Given the description of an element on the screen output the (x, y) to click on. 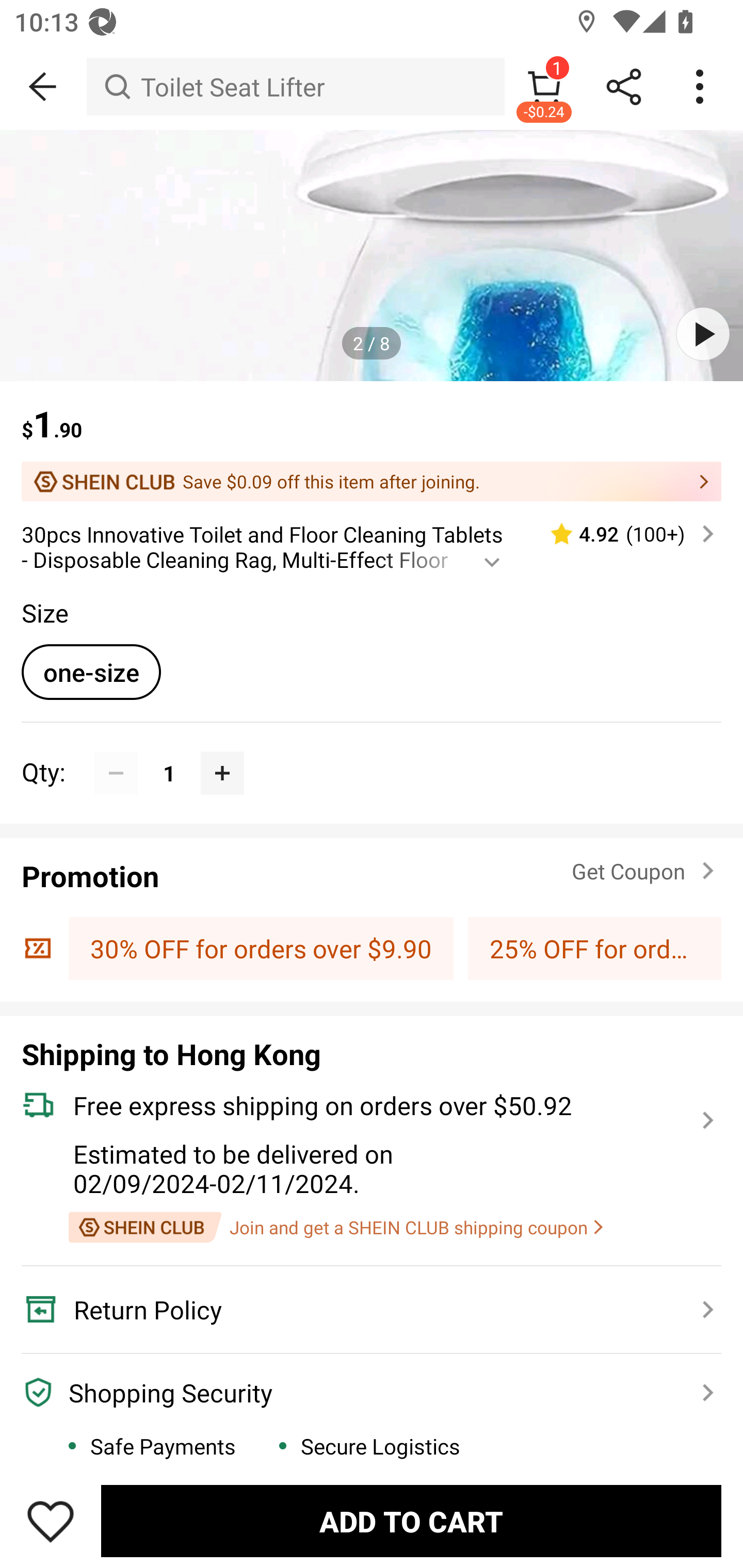
BACK (43, 86)
1 -$0.24 (543, 87)
Toilet Seat Lifter (295, 87)
PHOTOS 2 / 8 (371, 255)
2 / 8 (371, 343)
$1.90 Save $0.09 off this item after joining. (371, 441)
Save $0.09 off this item after joining. (371, 480)
4.92 (100‎+) (623, 533)
Size (44, 612)
one-size one-sizeselected option (91, 671)
Qty: 1 (371, 750)
Join and get a SHEIN CLUB shipping coupon (335, 1226)
Return Policy (359, 1309)
ADD TO CART (411, 1520)
Save (50, 1520)
